Given the description of an element on the screen output the (x, y) to click on. 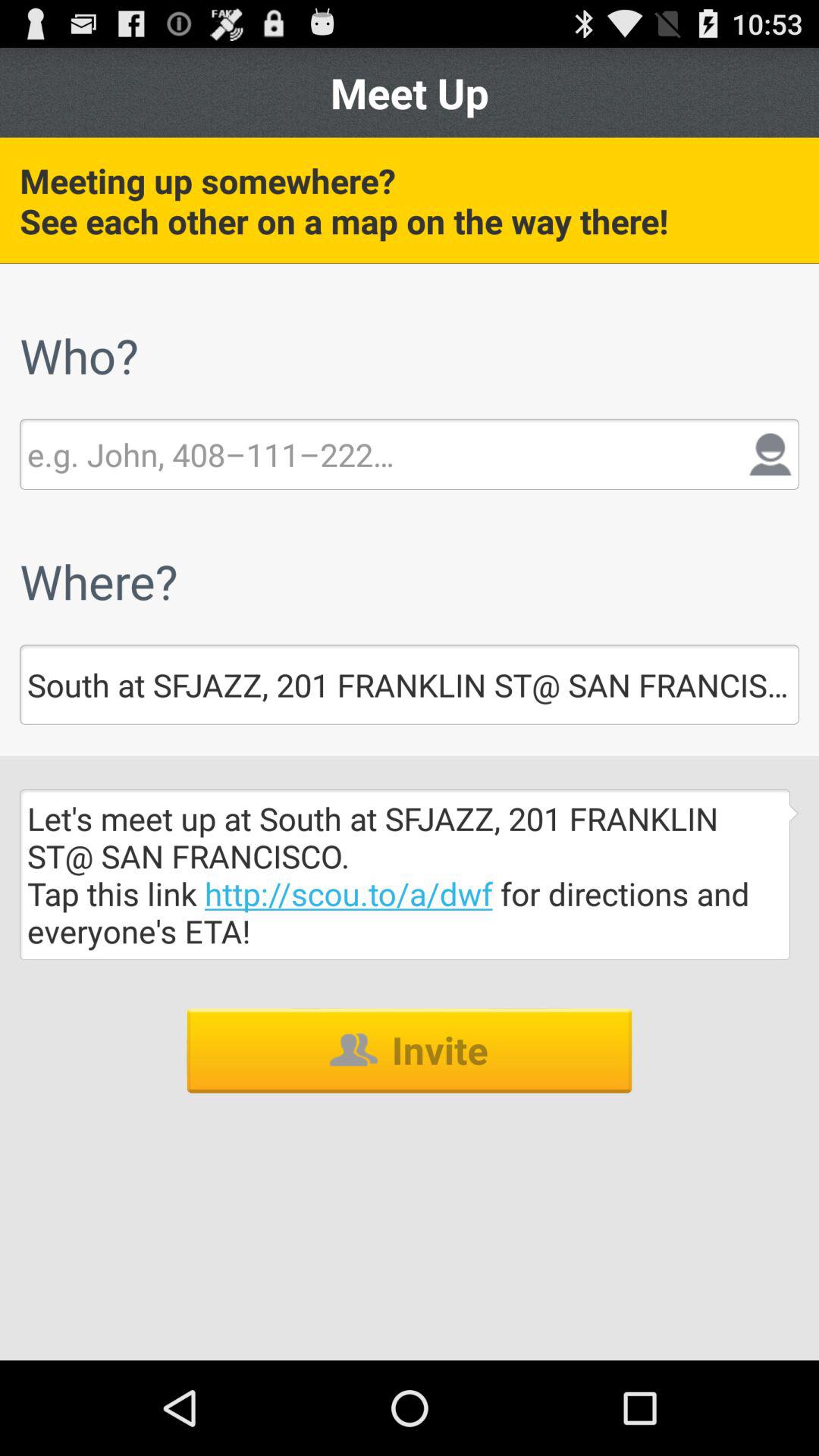
type name of person (210, 454)
